Given the description of an element on the screen output the (x, y) to click on. 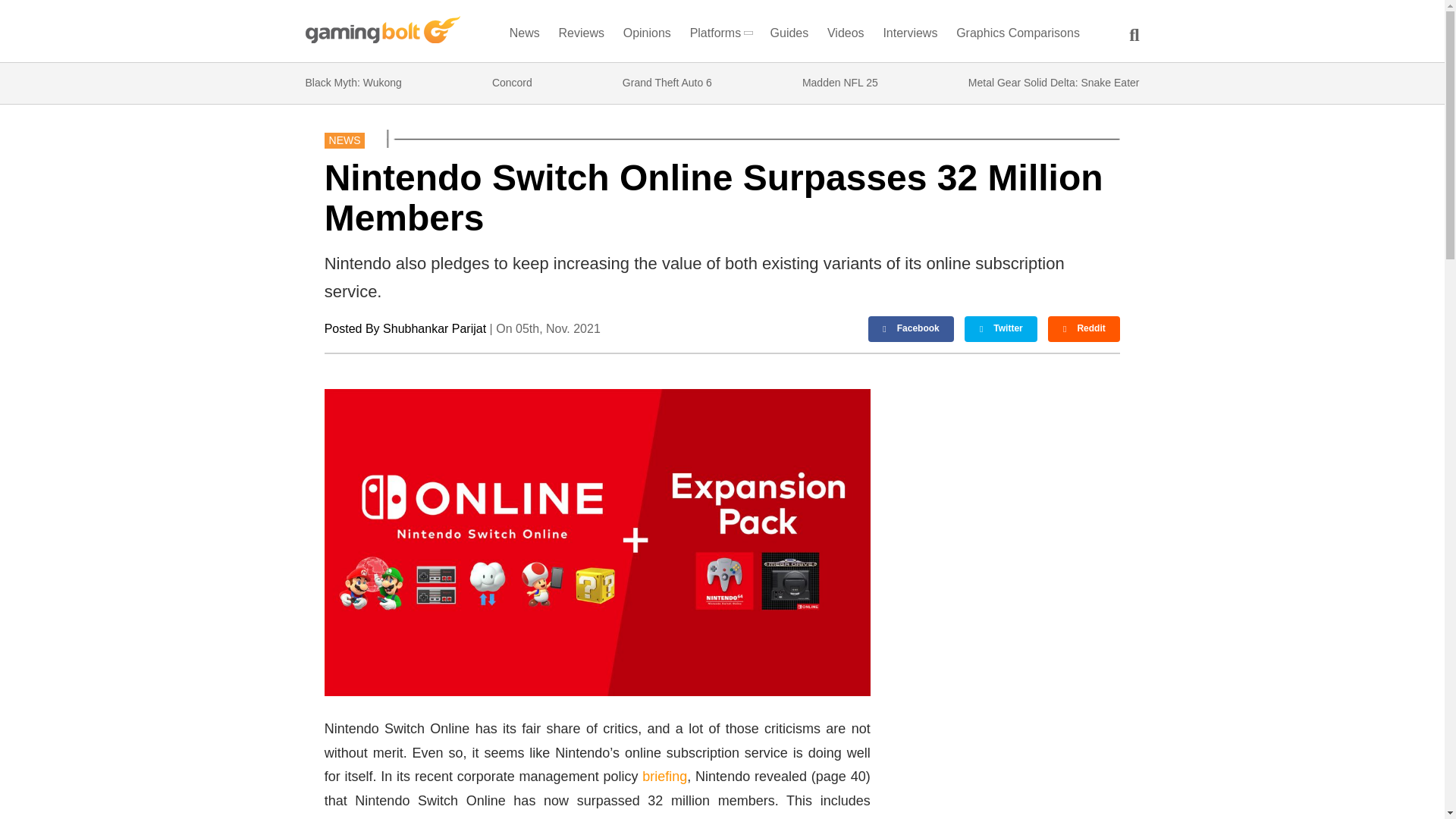
Interviews (909, 36)
NEWS (345, 140)
Graphics Comparisons (1017, 36)
Metal Gear Solid Delta: Snake Eater (1054, 82)
Madden NFL 25 (839, 82)
Opinions (647, 36)
Concord (512, 82)
Shubhankar Parijat (434, 328)
Videos (845, 36)
News (524, 36)
